Given the description of an element on the screen output the (x, y) to click on. 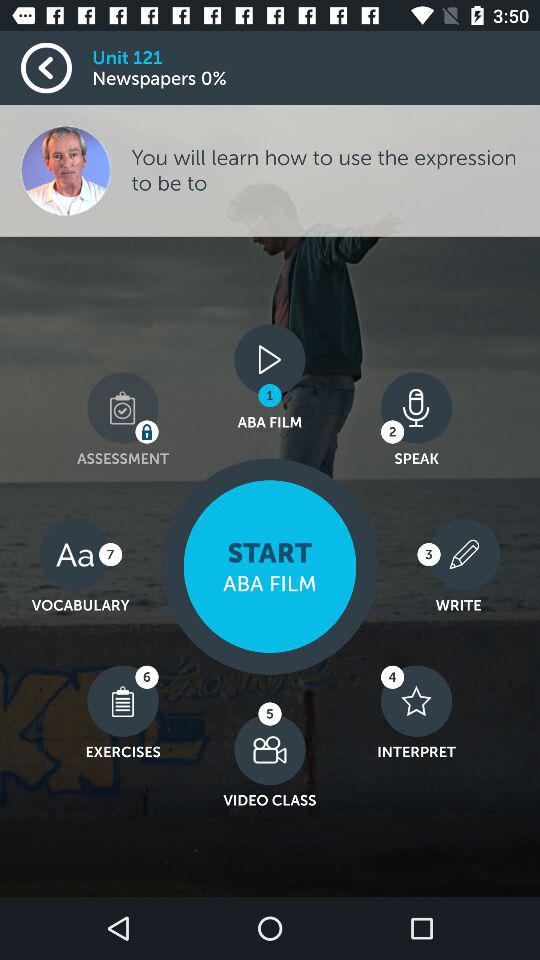
start film (269, 566)
